Given the description of an element on the screen output the (x, y) to click on. 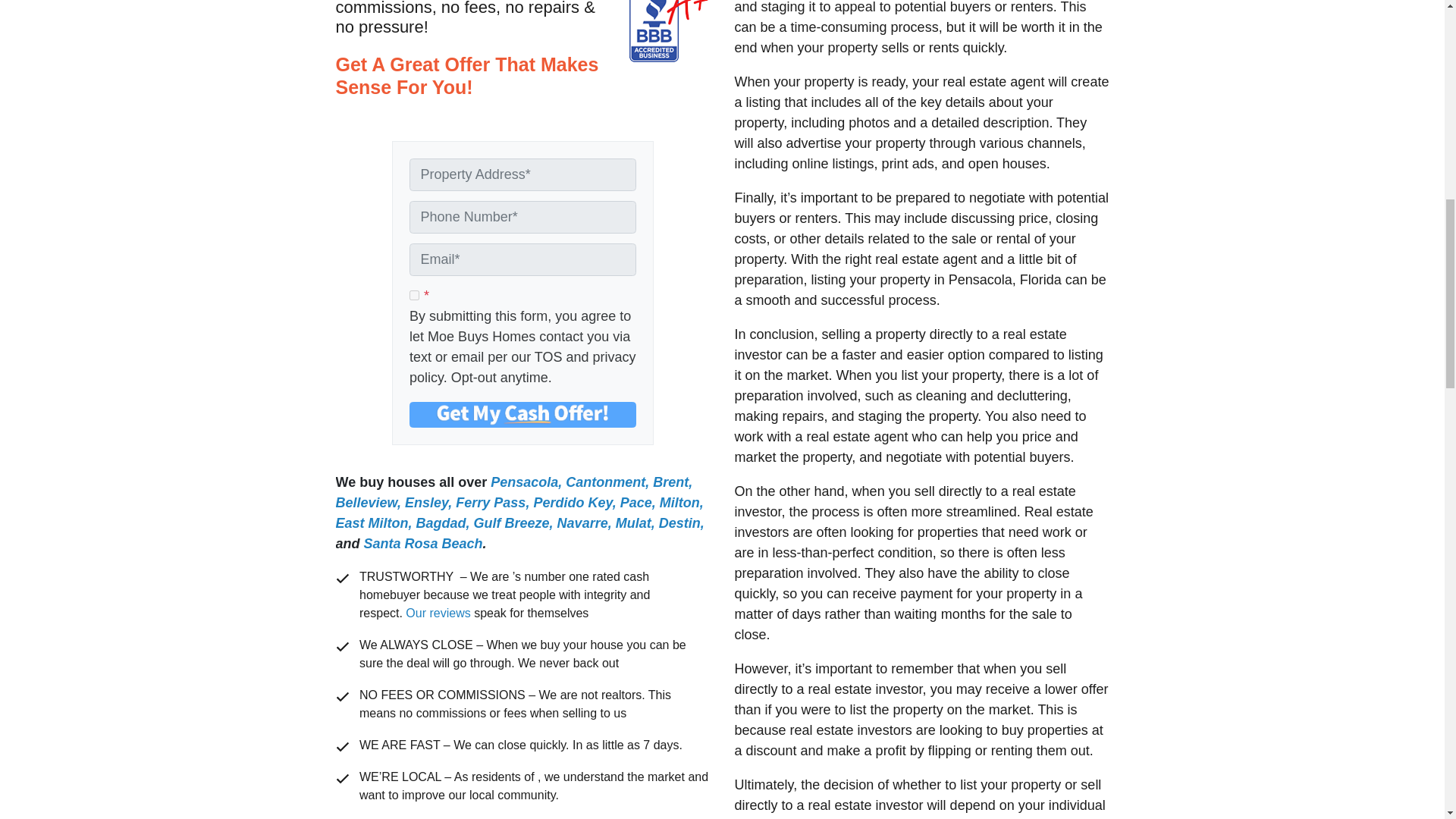
1 (414, 295)
Brent (670, 482)
Ensley (426, 502)
Belleview (365, 502)
East Milton (370, 522)
Santa Rosa Beach (423, 543)
Perdido Key (571, 502)
Mulat (632, 522)
Bagdad (440, 522)
Destin (679, 522)
Cantonment (605, 482)
Our reviews (438, 612)
Ferry Pass (490, 502)
Milton (679, 502)
Gulf Breeze (512, 522)
